Given the description of an element on the screen output the (x, y) to click on. 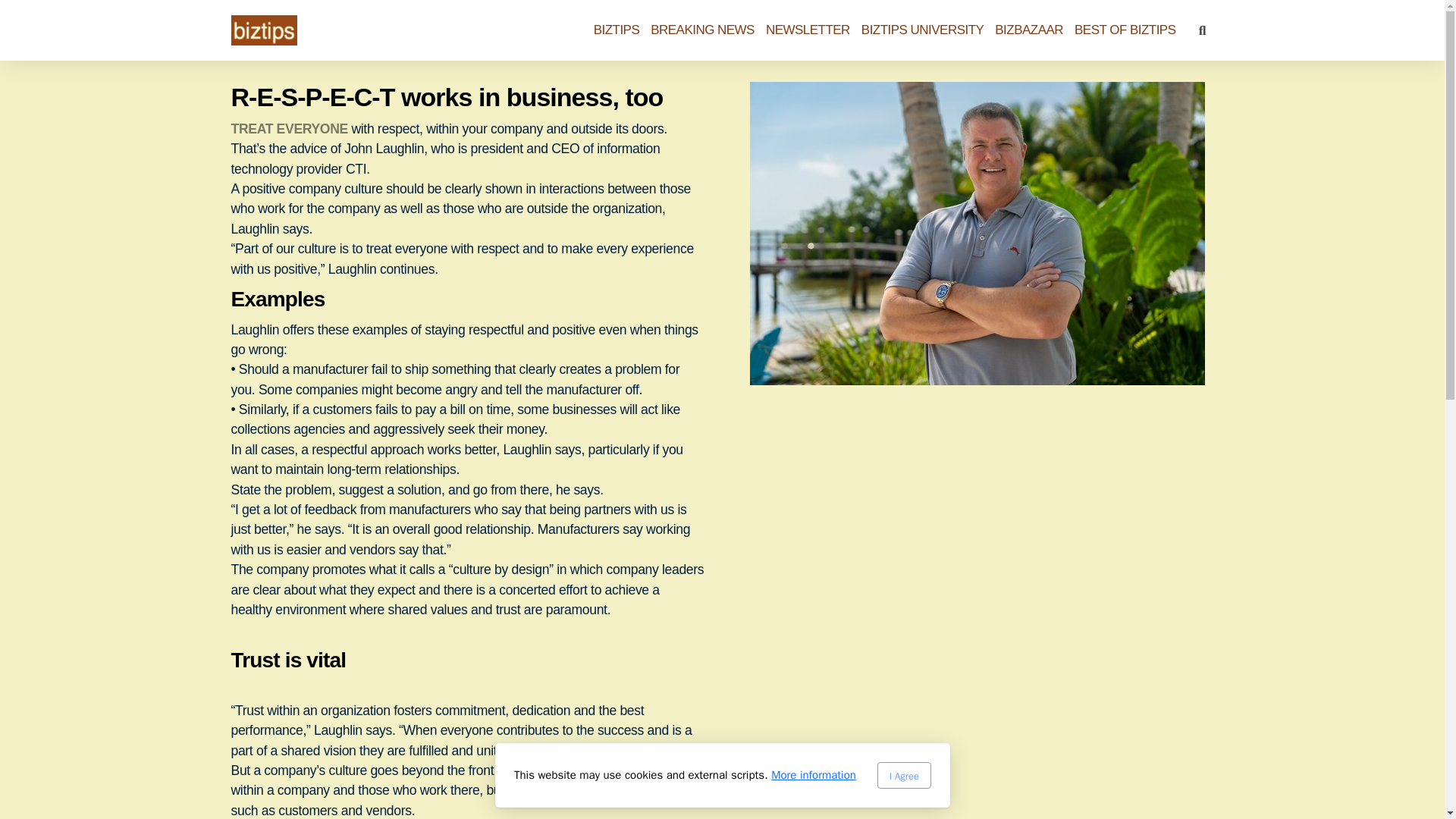
NEWSLETTER (807, 30)
BIZBAZAAR (1028, 30)
BIZTIPS (617, 30)
BIZTIPS UNIVERSITY (922, 30)
More information (813, 775)
I Agree (903, 775)
BREAKING NEWS (702, 30)
BEST OF BIZTIPS (1124, 30)
